Given the description of an element on the screen output the (x, y) to click on. 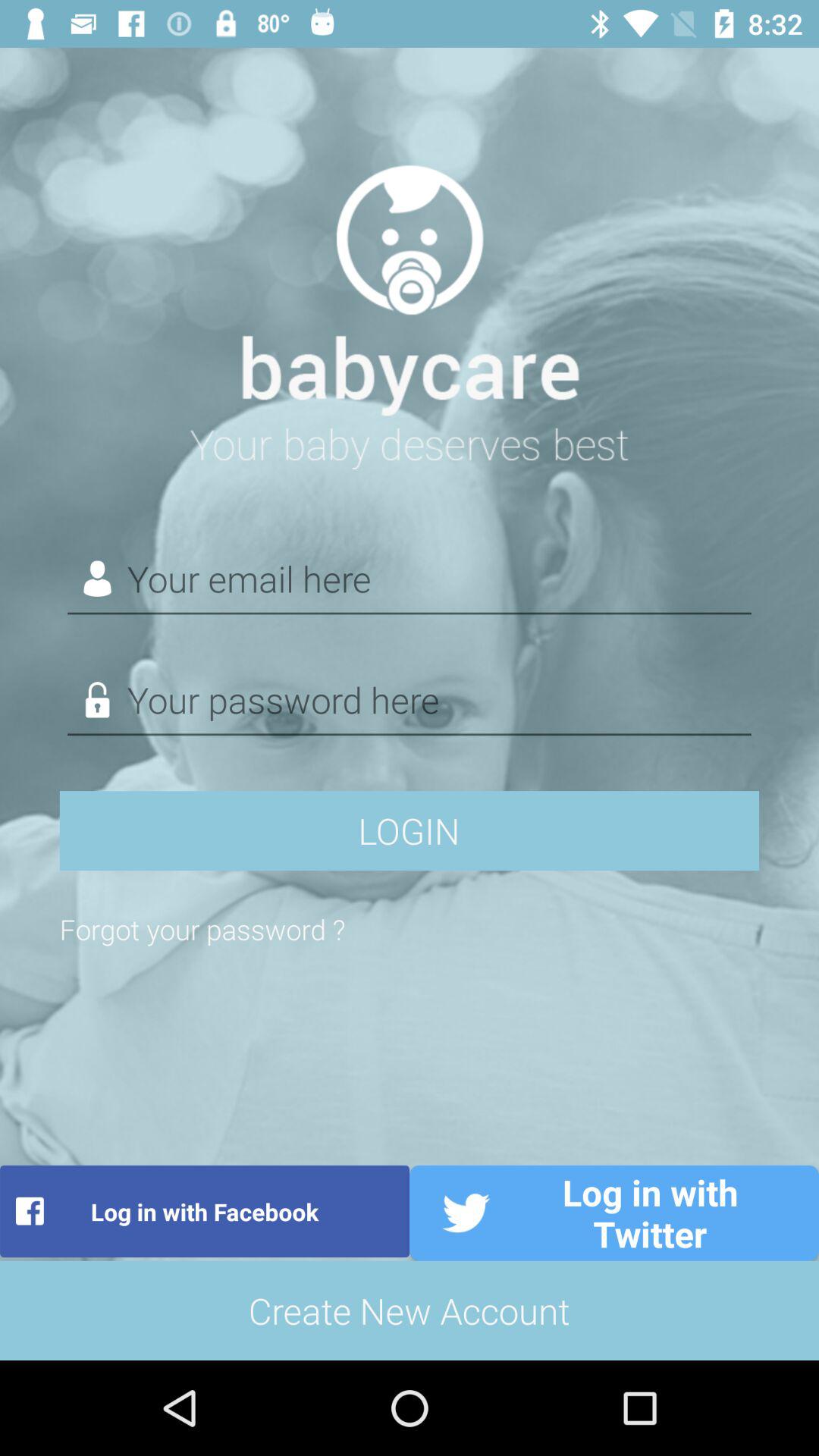
enter email address (409, 579)
